Given the description of an element on the screen output the (x, y) to click on. 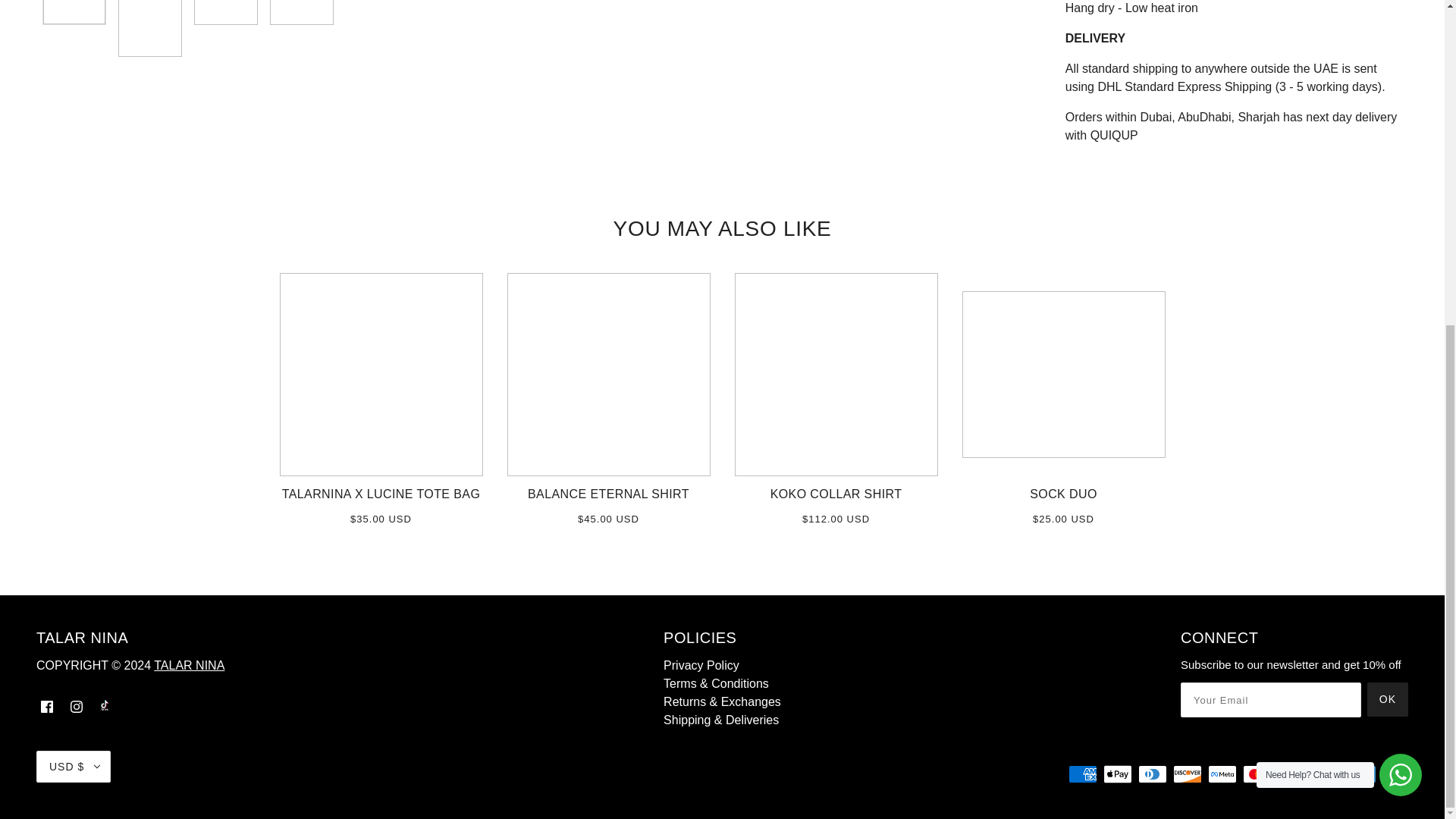
Privacy Policy (701, 665)
Diners Club (1152, 773)
Apple Pay (1117, 773)
Discover (1187, 773)
American Express (1082, 773)
